Given the description of an element on the screen output the (x, y) to click on. 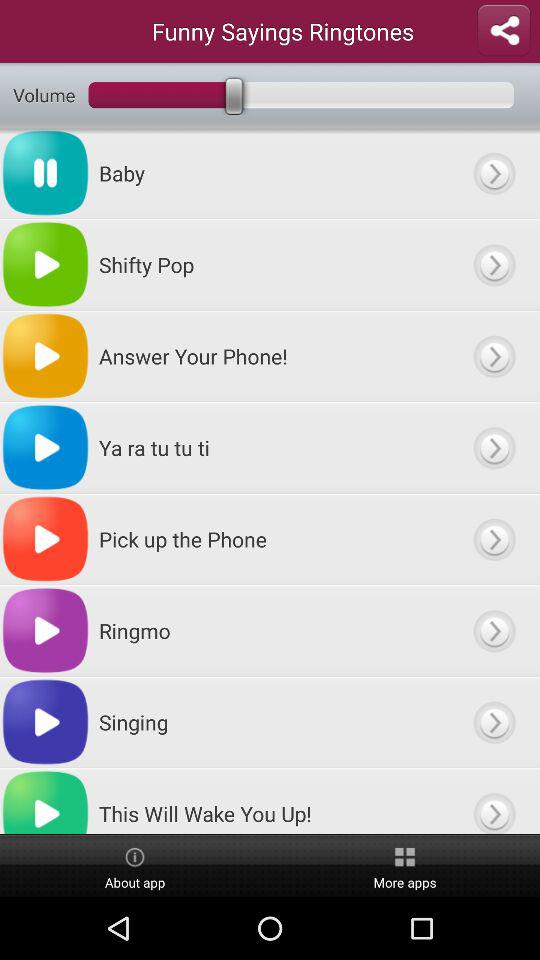
open to file (494, 801)
